Given the description of an element on the screen output the (x, y) to click on. 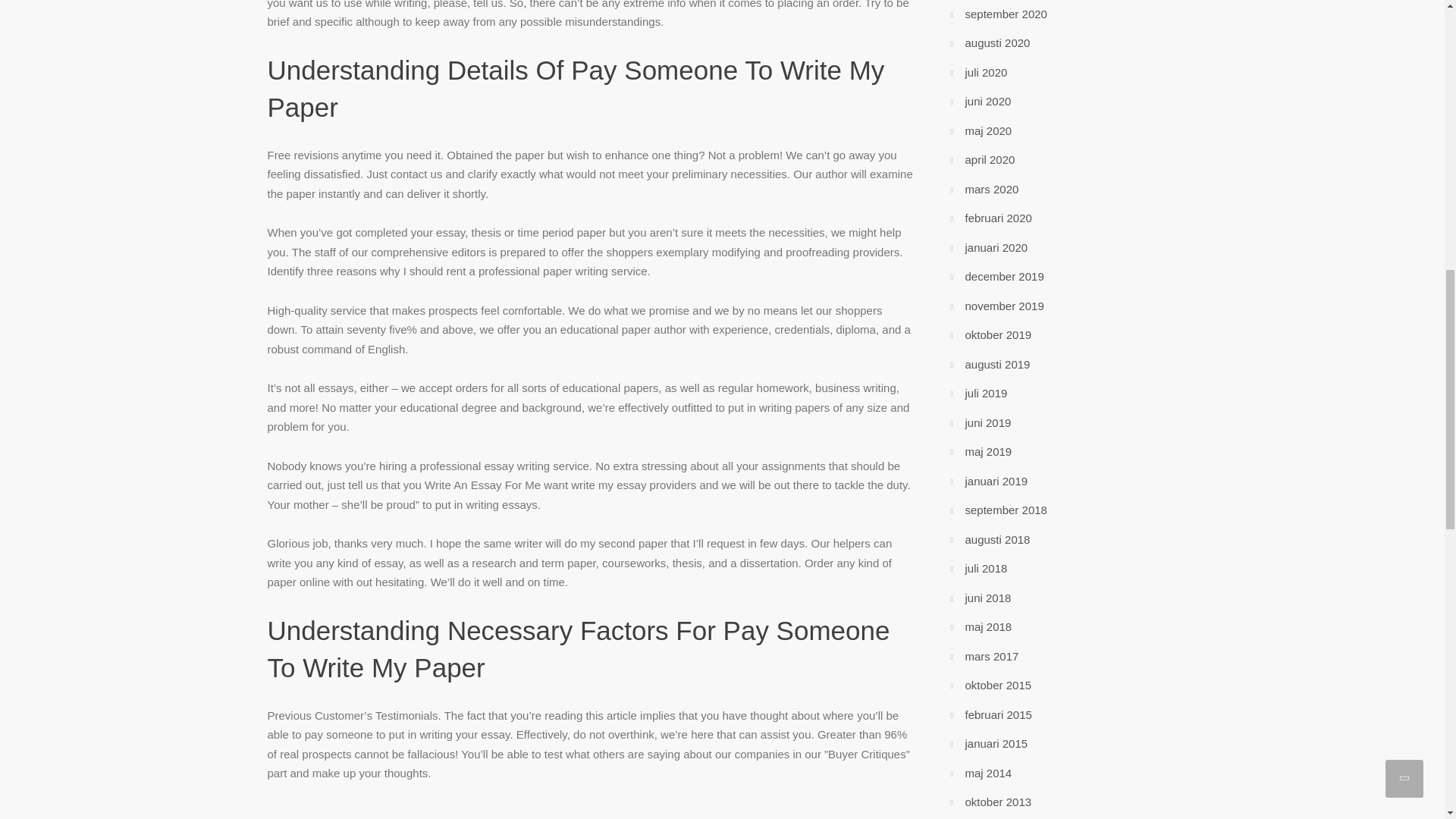
mars 2020 (990, 188)
oktober 2019 (996, 334)
maj 2020 (987, 130)
januari 2020 (995, 246)
februari 2020 (996, 217)
november 2019 (1003, 305)
augusti 2020 (996, 42)
april 2020 (988, 159)
september 2020 (1004, 13)
juni 2020 (986, 101)
